Given the description of an element on the screen output the (x, y) to click on. 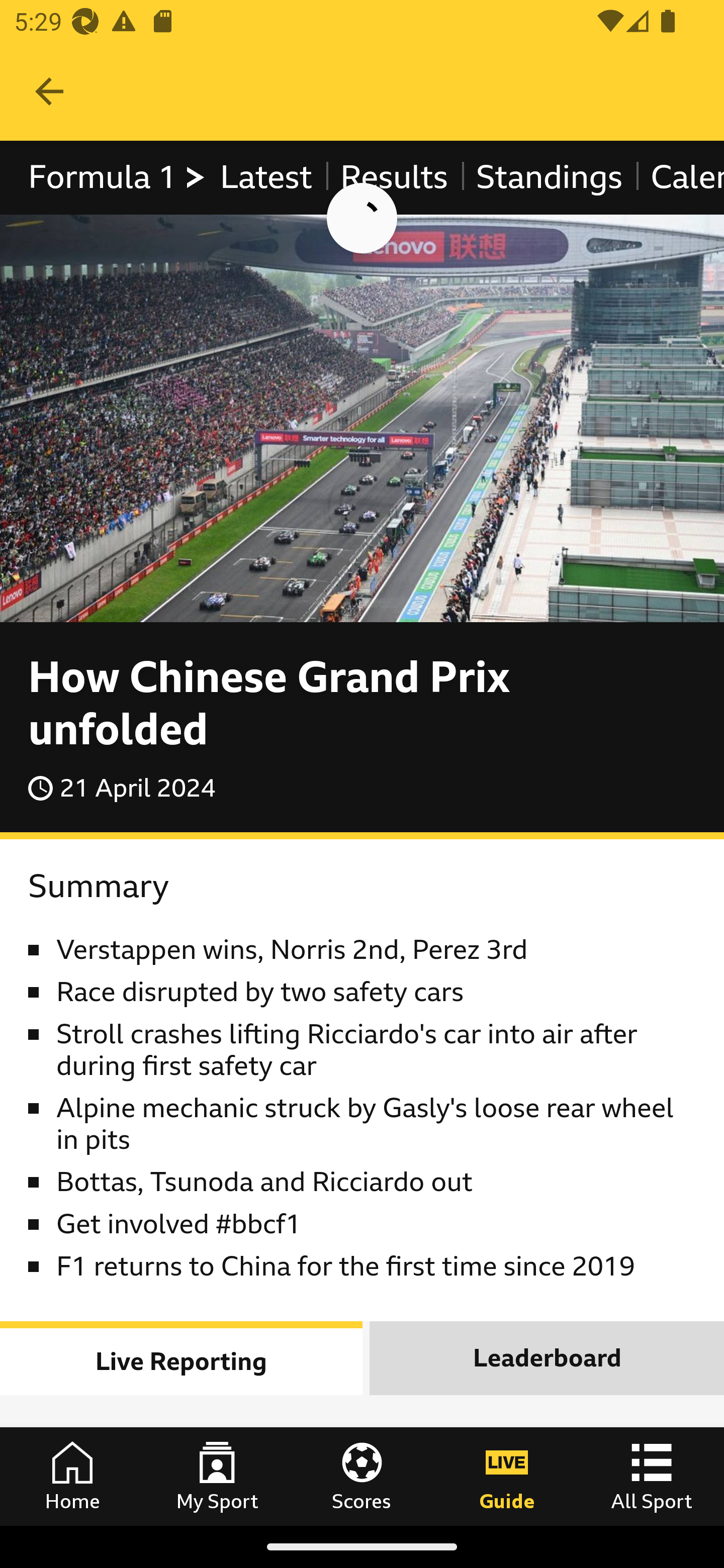
Navigate up (49, 91)
Formula 1  (117, 177)
Latest (265, 177)
Results (393, 177)
Standings (549, 177)
Live Reporting (182, 1357)
Leaderboard (546, 1357)
Home (72, 1475)
My Sport (216, 1475)
Scores (361, 1475)
All Sport (651, 1475)
